Given the description of an element on the screen output the (x, y) to click on. 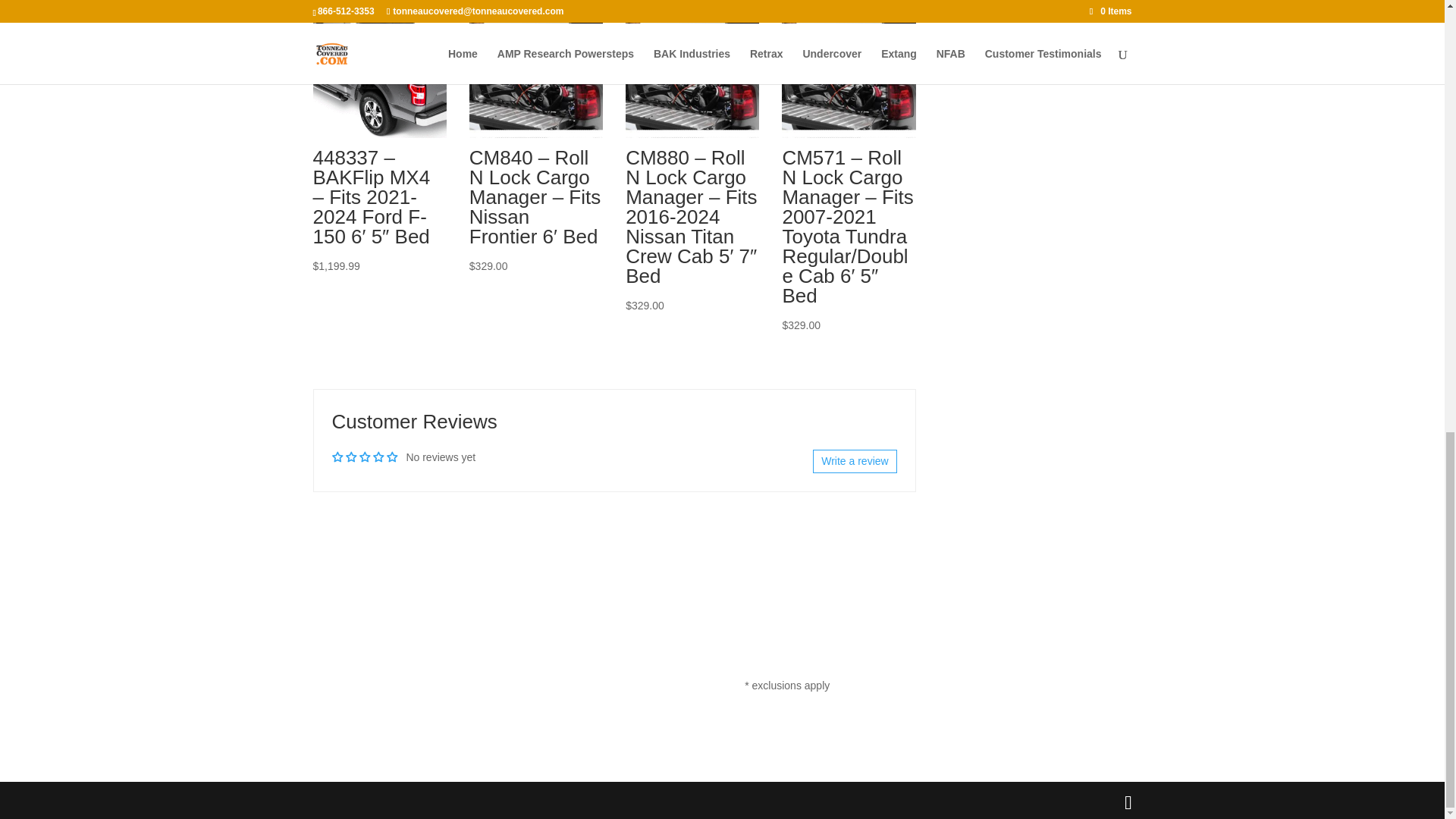
Write a review (854, 461)
